Given the description of an element on the screen output the (x, y) to click on. 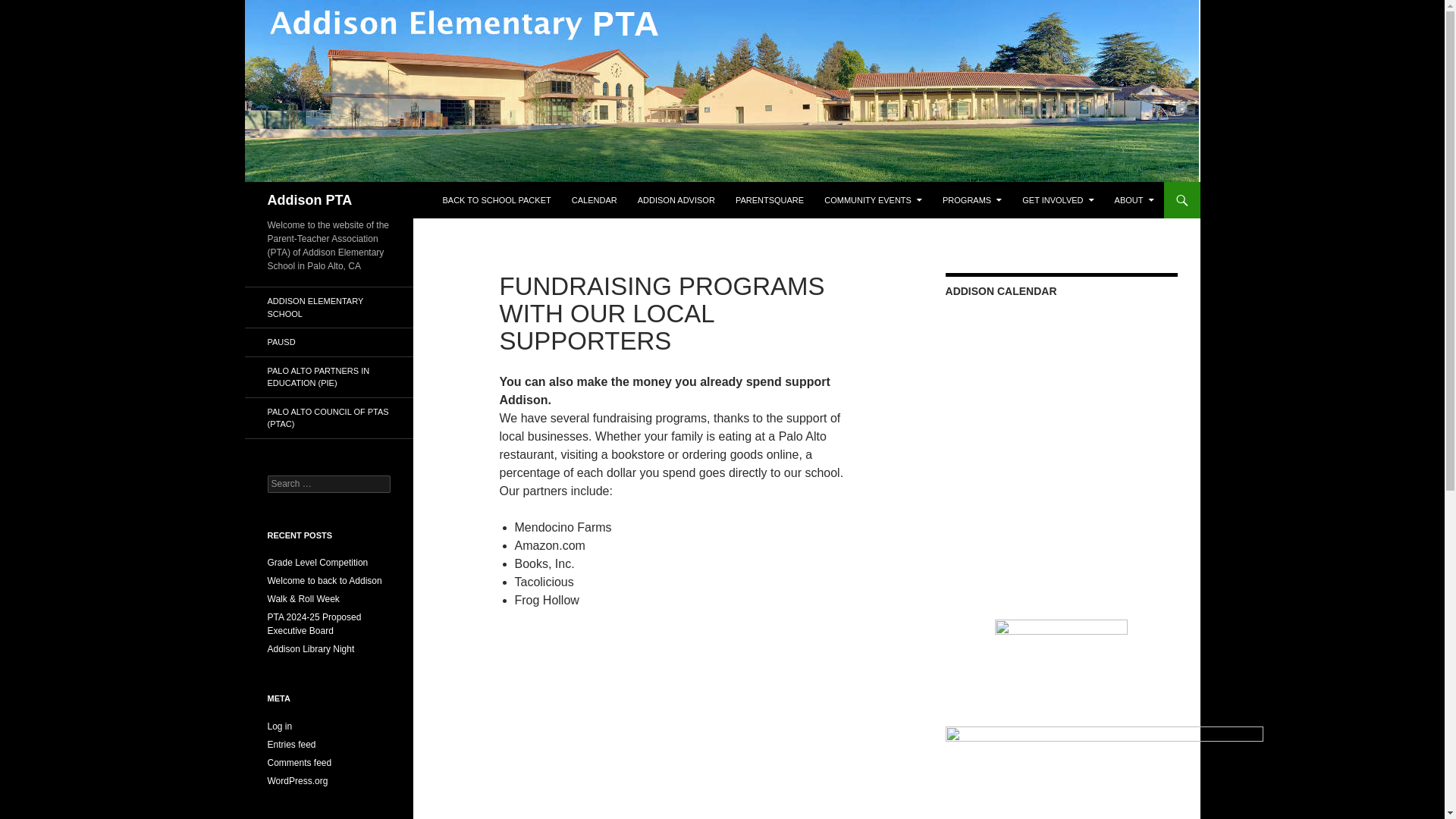
GET INVOLVED (1057, 199)
Addison PTA (309, 199)
CALENDAR (594, 199)
PROGRAMS (971, 199)
COMMUNITY EVENTS (873, 199)
ABOUT (1134, 199)
BACK TO SCHOOL PACKET (495, 199)
PAUSD (328, 342)
